Given the description of an element on the screen output the (x, y) to click on. 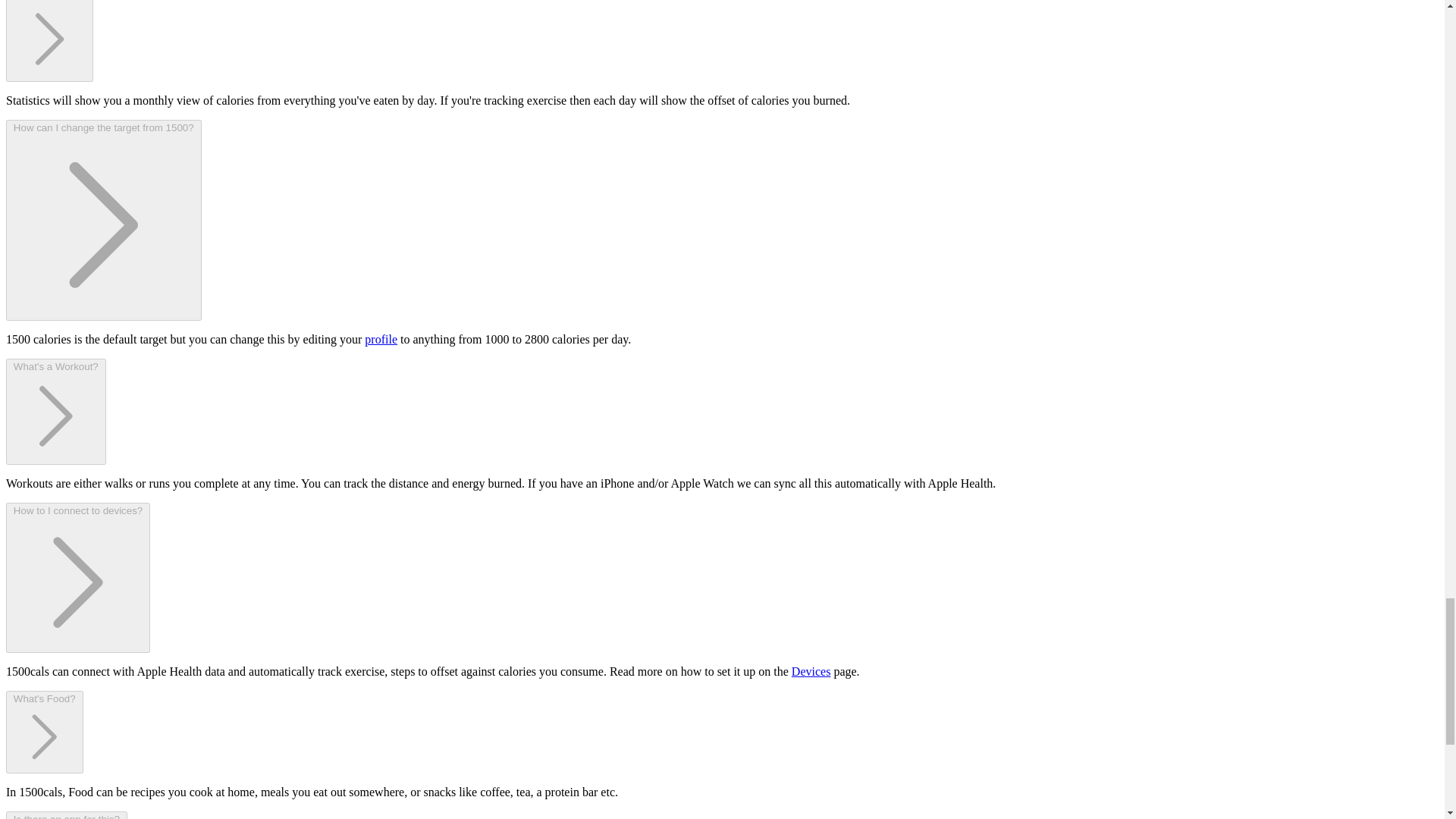
Is there an app for this? (66, 815)
profile (381, 338)
Devices (811, 671)
What's a Workout? (55, 411)
How can I change the target from 1500? (103, 220)
What's Food? (43, 732)
What are Stats? (49, 40)
How to I connect to devices? (77, 577)
